Given the description of an element on the screen output the (x, y) to click on. 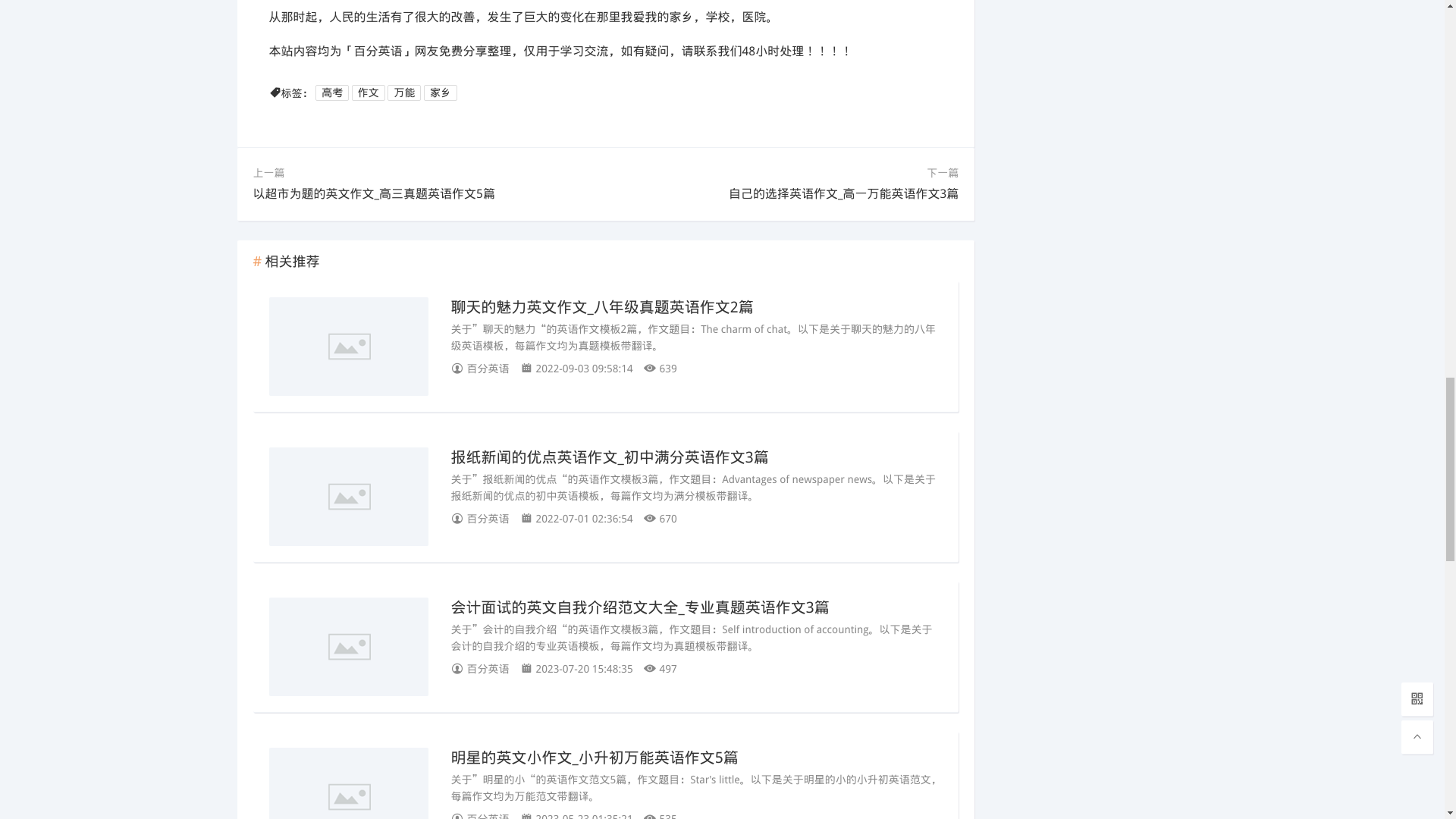
2022-09-03 09:58:14 (581, 368)
2022-07-01 02:36:54 (581, 517)
